Given the description of an element on the screen output the (x, y) to click on. 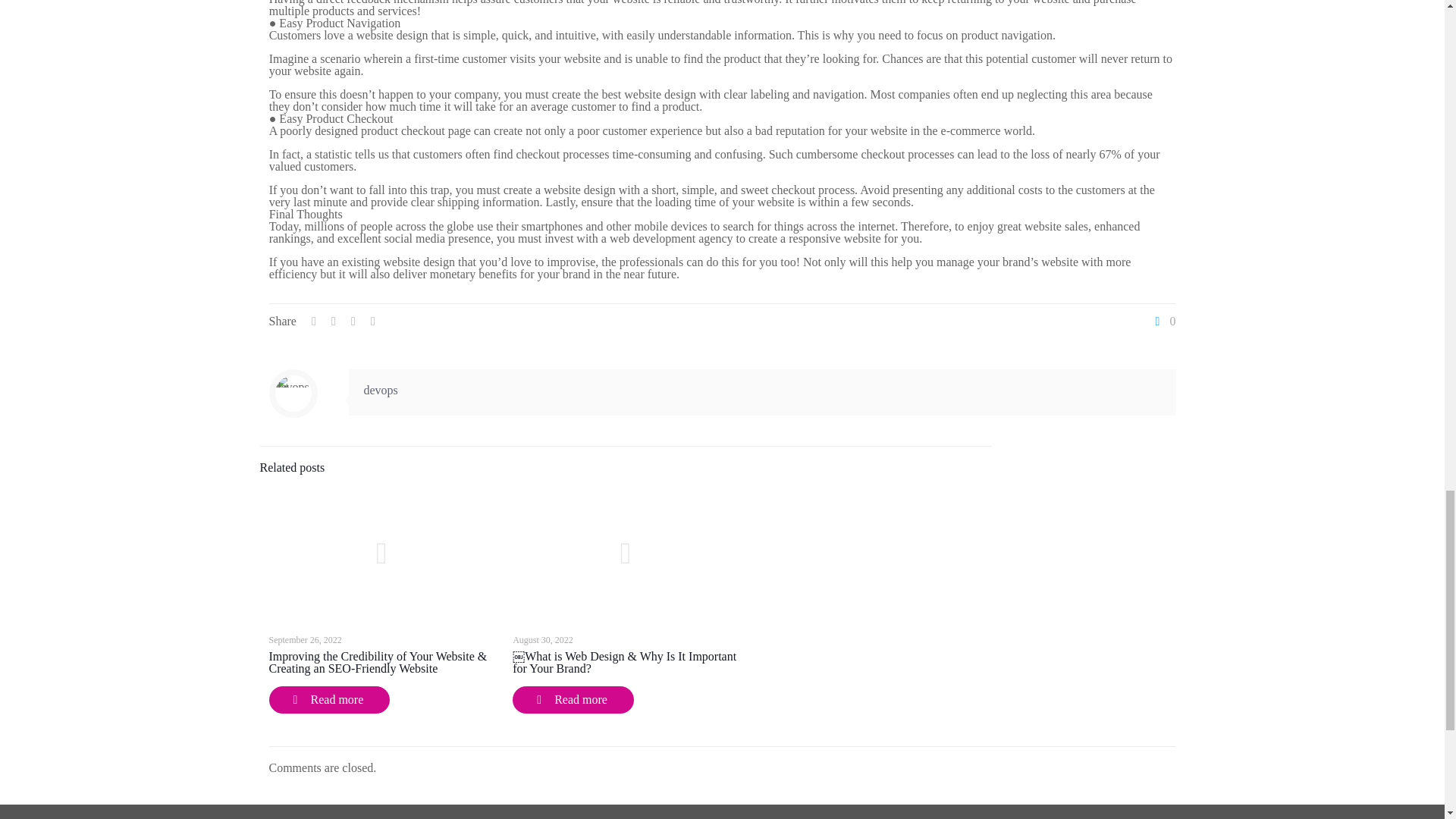
Read more (572, 699)
devops (380, 390)
0 (1162, 321)
Read more (328, 699)
